Given the description of an element on the screen output the (x, y) to click on. 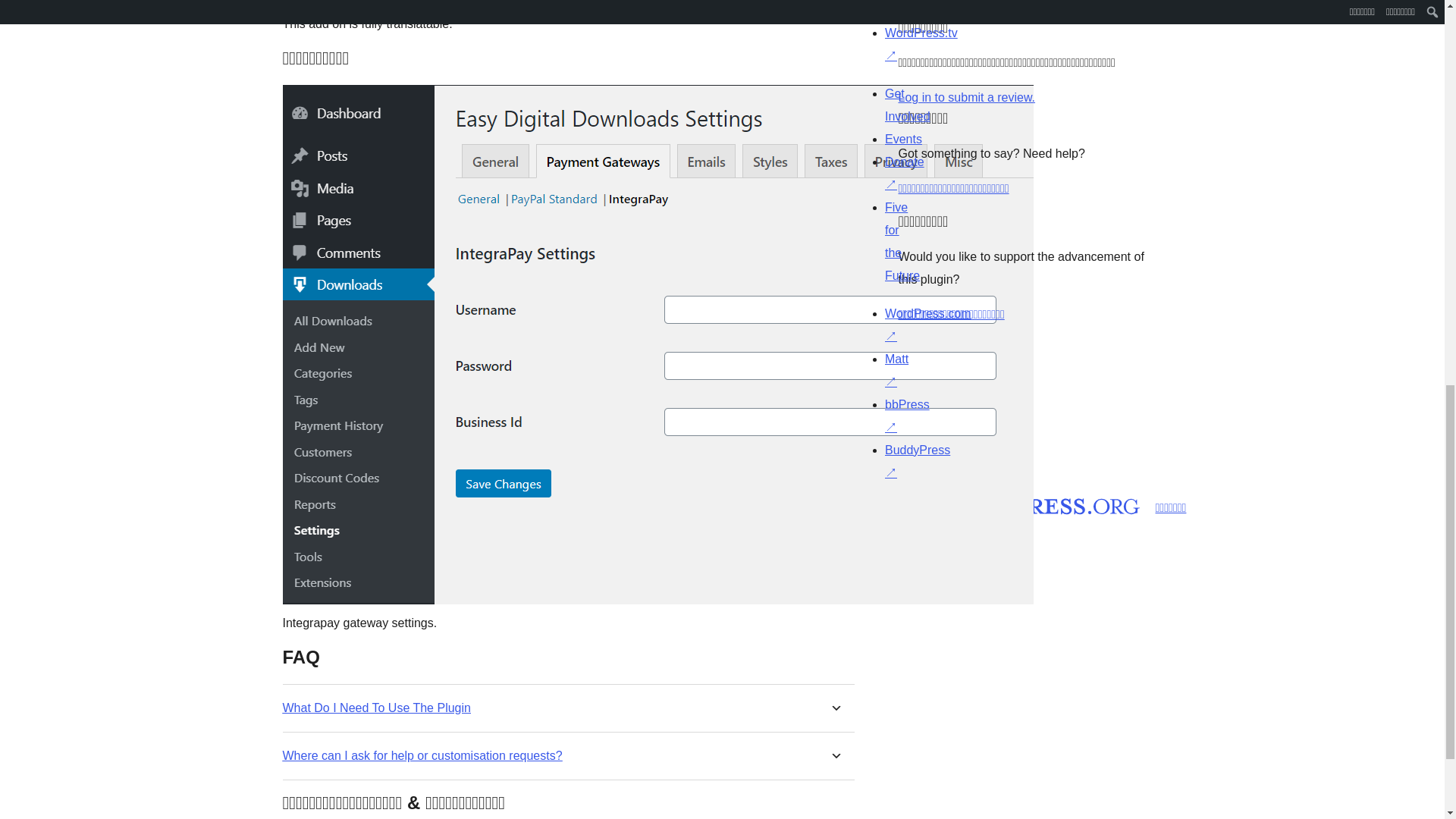
Where can I ask for help or customisation requests? (422, 755)
WordPress.org (1014, 504)
What Do I Need To Use The Plugin (376, 707)
Log in to WordPress.org (966, 97)
WordPress.org (864, 504)
